Given the description of an element on the screen output the (x, y) to click on. 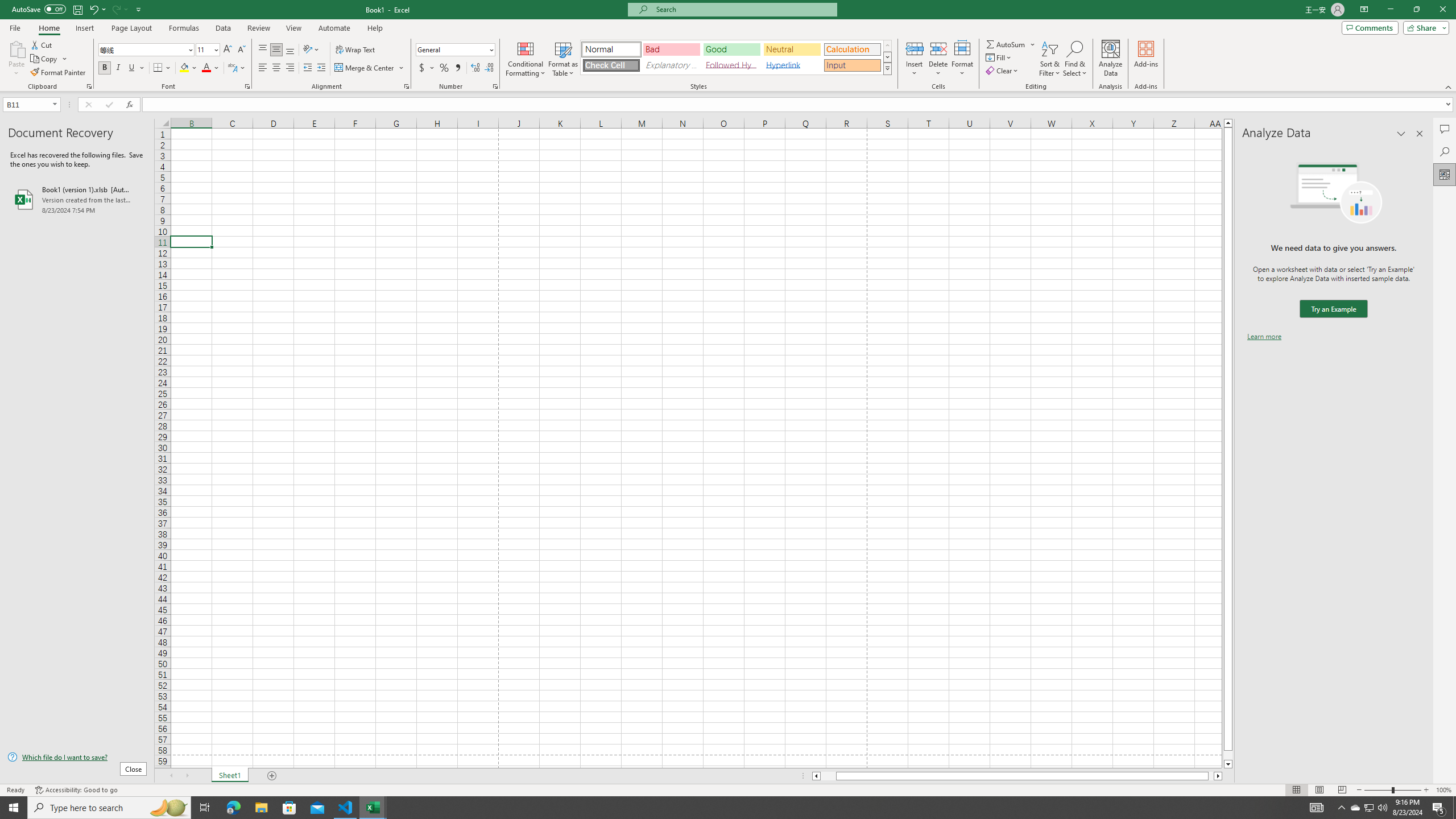
Neutral (791, 49)
Cut (42, 44)
Font Color (210, 67)
Format Cell Number (494, 85)
